Given the description of an element on the screen output the (x, y) to click on. 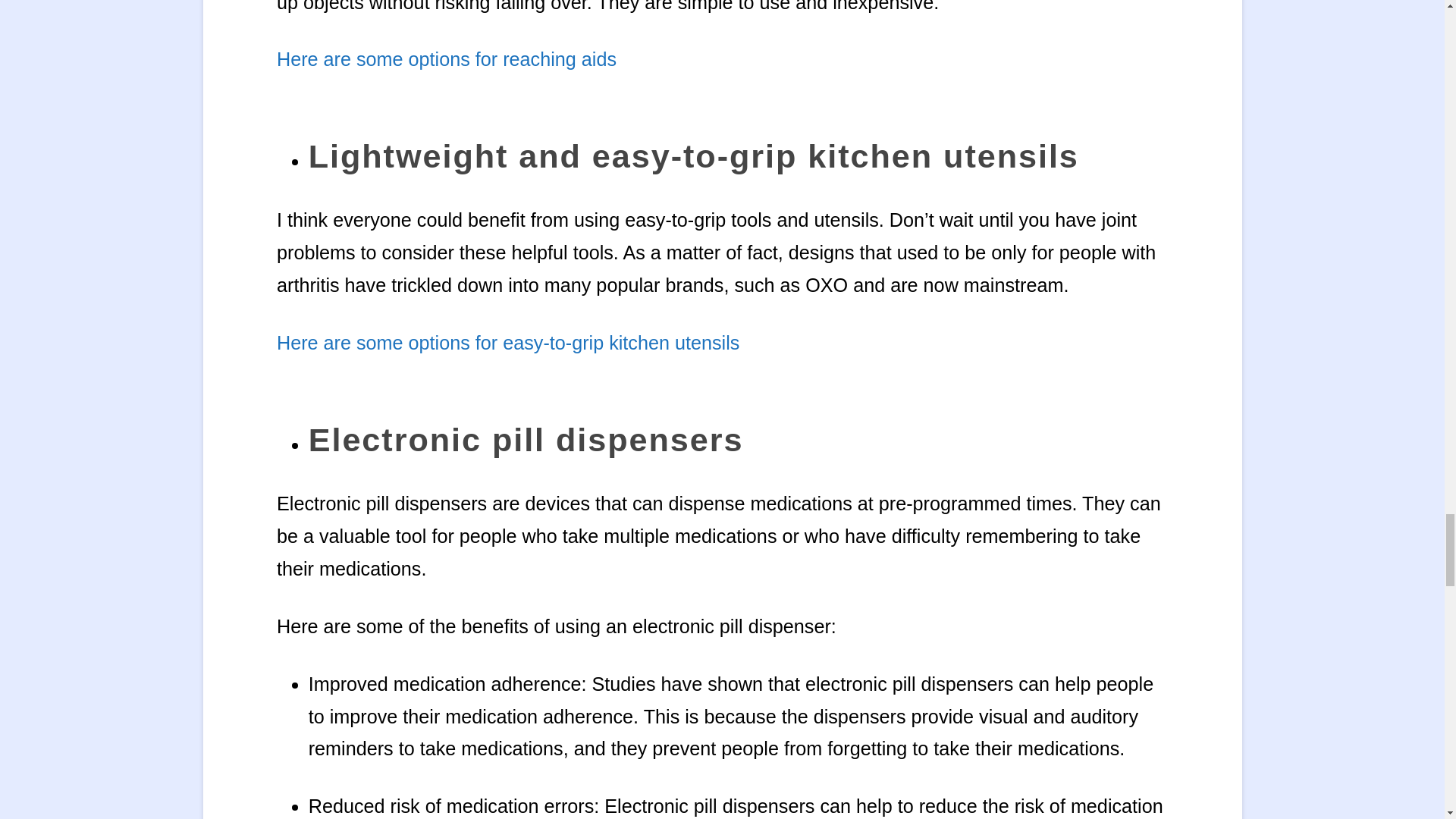
Here are some options for easy-to-grip kitchen utensils (507, 342)
Here are some options for reaching aids (445, 58)
